Given the description of an element on the screen output the (x, y) to click on. 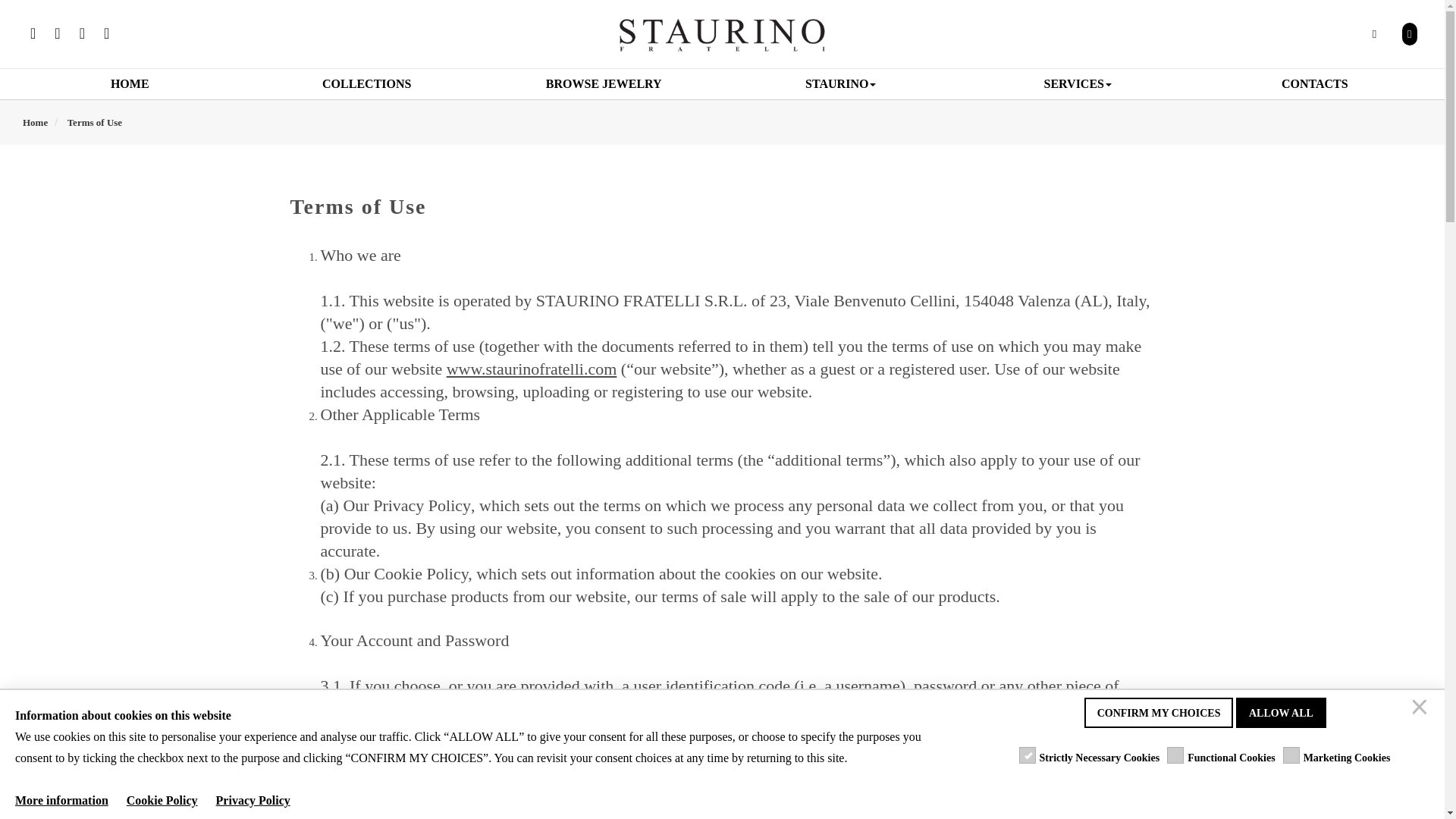
COLLECTIONS (367, 84)
Staurino Fratelli (722, 34)
Home (35, 122)
HOME (129, 84)
SERVICES (1077, 84)
STAURINO (840, 84)
Privacy Policy (421, 505)
BROWSE JEWELRY (603, 84)
CONTACTS (1315, 84)
